Given the description of an element on the screen output the (x, y) to click on. 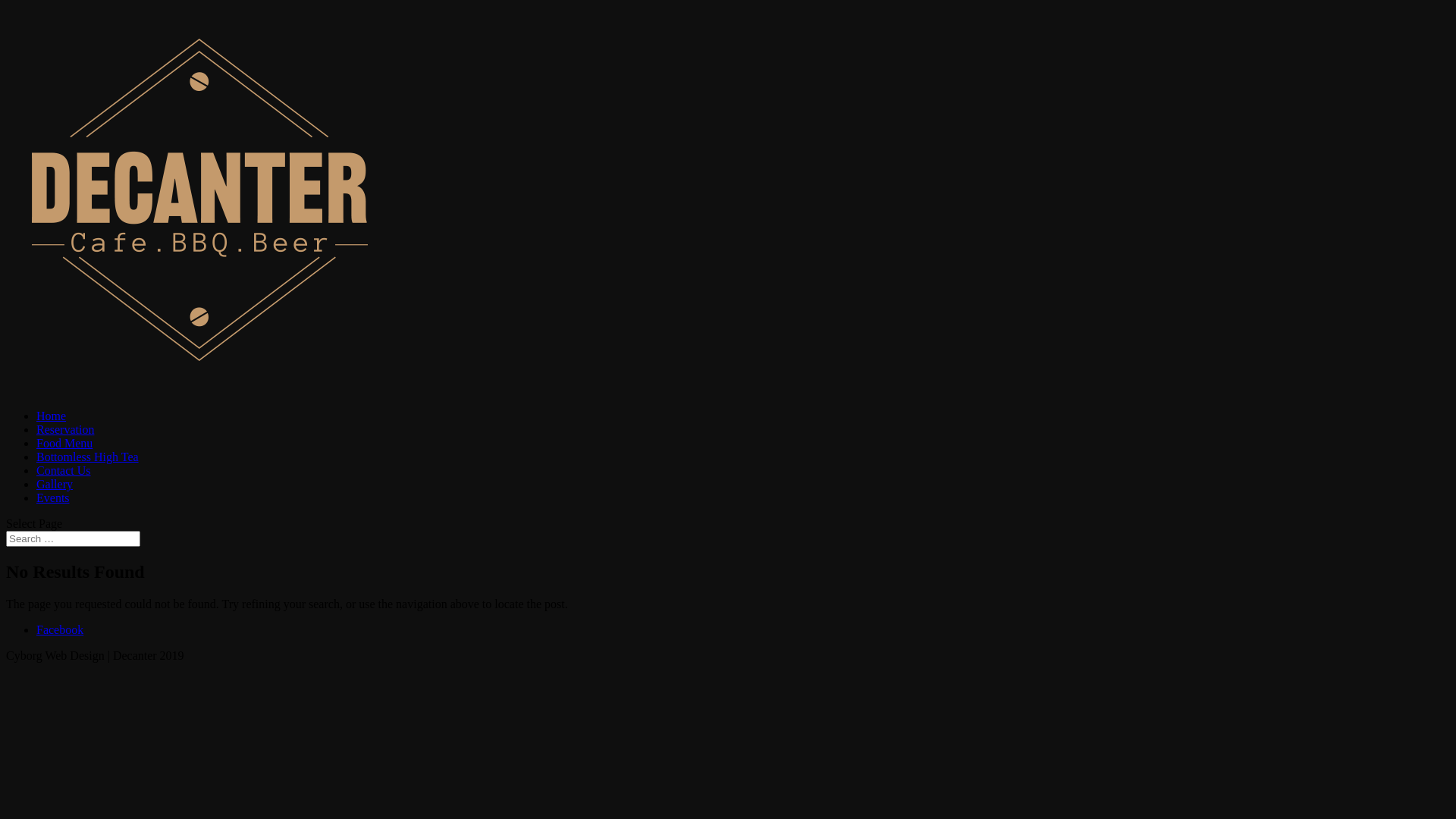
Facebook Element type: text (59, 629)
Events Element type: text (52, 497)
Contact Us Element type: text (63, 470)
Gallery Element type: text (54, 483)
Food Menu Element type: text (64, 442)
Reservation Element type: text (65, 429)
Search for: Element type: hover (73, 538)
Bottomless High Tea Element type: text (87, 456)
Home Element type: text (50, 415)
